Given the description of an element on the screen output the (x, y) to click on. 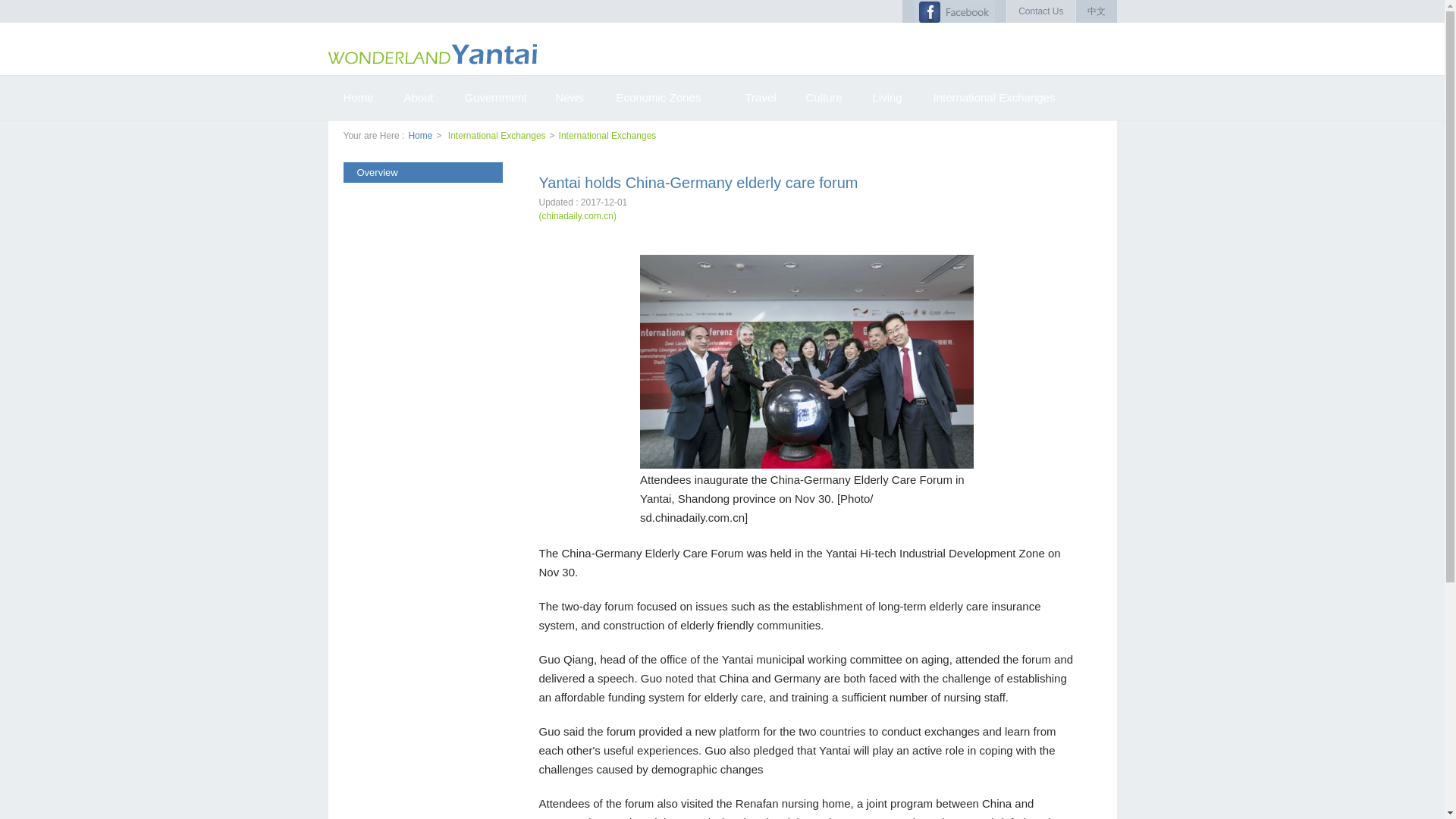
Home (357, 97)
News (569, 97)
International Exchanges (607, 135)
Travel (759, 97)
Economic Zones (664, 97)
About (418, 97)
Government (494, 97)
Home (419, 135)
International Exchanges (497, 135)
Living (887, 97)
Culture (823, 97)
International Exchanges (992, 97)
Overview (422, 172)
Contact Us (1040, 11)
